Given the description of an element on the screen output the (x, y) to click on. 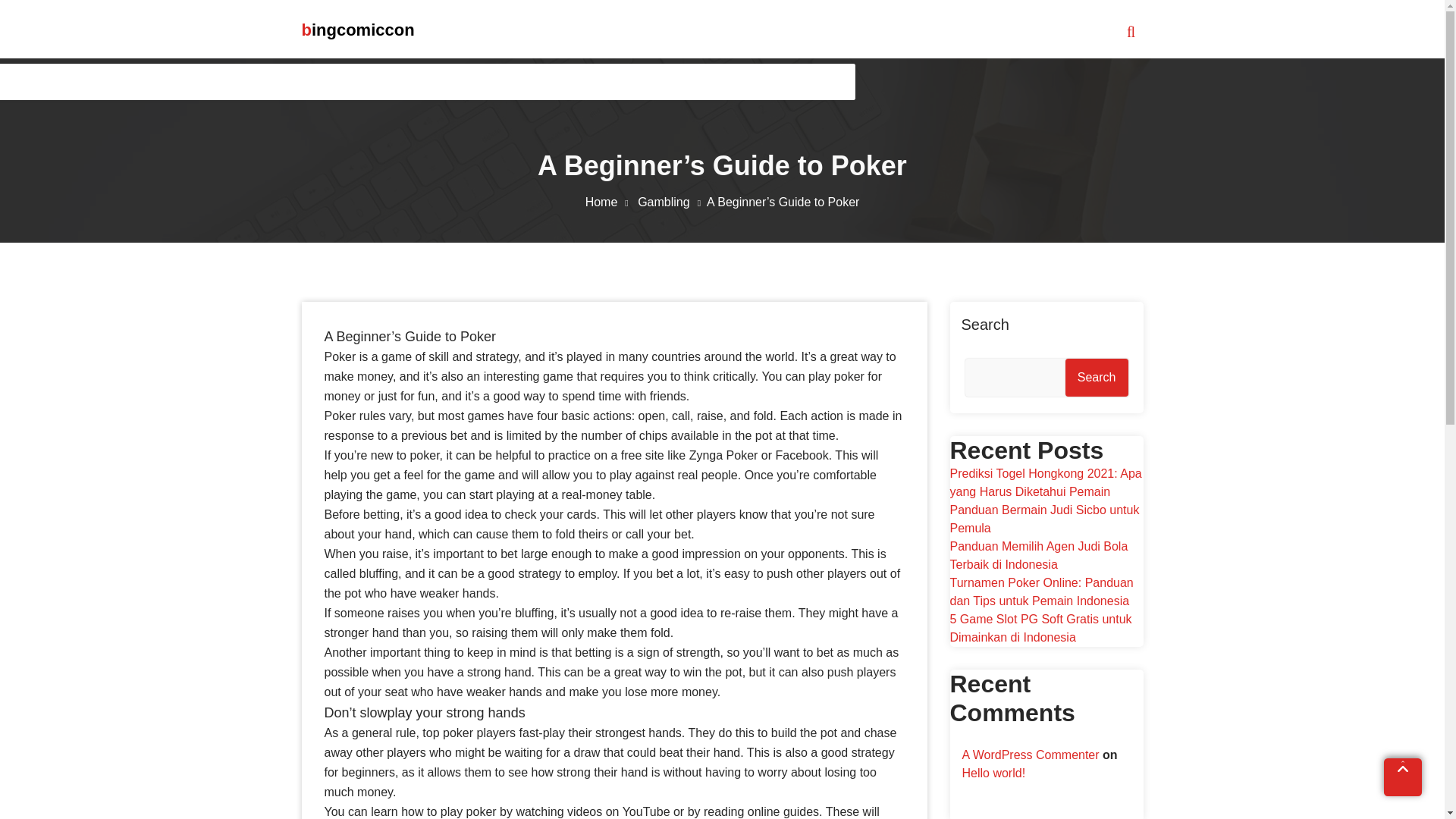
Search (1096, 377)
5 Game Slot PG Soft Gratis untuk Dimainkan di Indonesia (1040, 627)
bingcomiccon (357, 30)
Panduan Bermain Judi Sicbo untuk Pemula (1043, 518)
Gambling (671, 201)
A WordPress Commenter (1029, 754)
Panduan Memilih Agen Judi Bola Terbaik di Indonesia (1037, 554)
Home (609, 201)
